Given the description of an element on the screen output the (x, y) to click on. 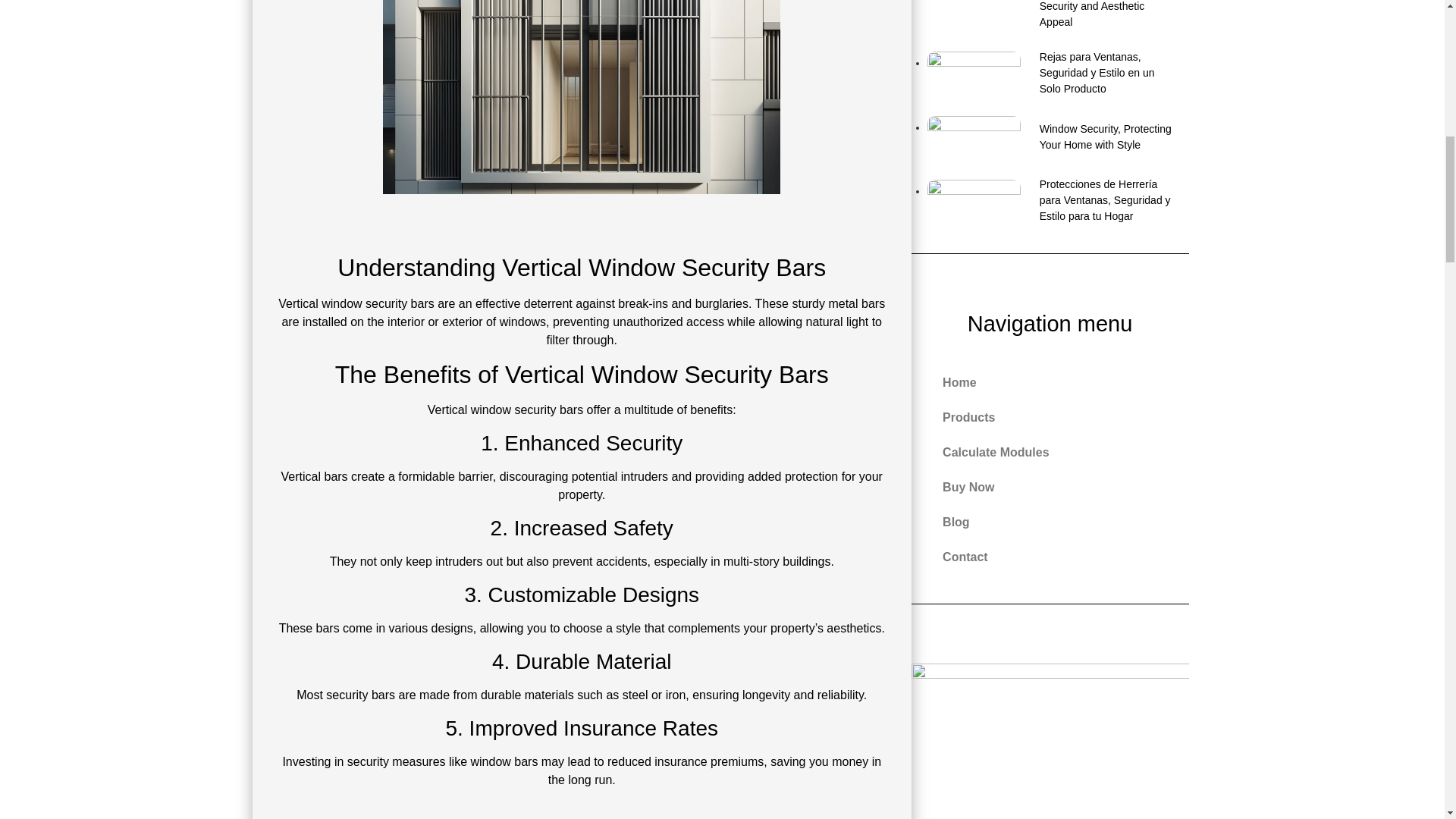
Home (1050, 382)
Window Security, Protecting Your Home with Style (1049, 137)
Window Bars, Combining Security and Aesthetic Appeal (1049, 15)
Contact (1050, 556)
Buy Now (1050, 487)
Products (1050, 417)
Blog (1050, 522)
Rejas para Ventanas, Seguridad y Estilo en un Solo Producto (1049, 73)
Calculate Modules (1050, 452)
